Given the description of an element on the screen output the (x, y) to click on. 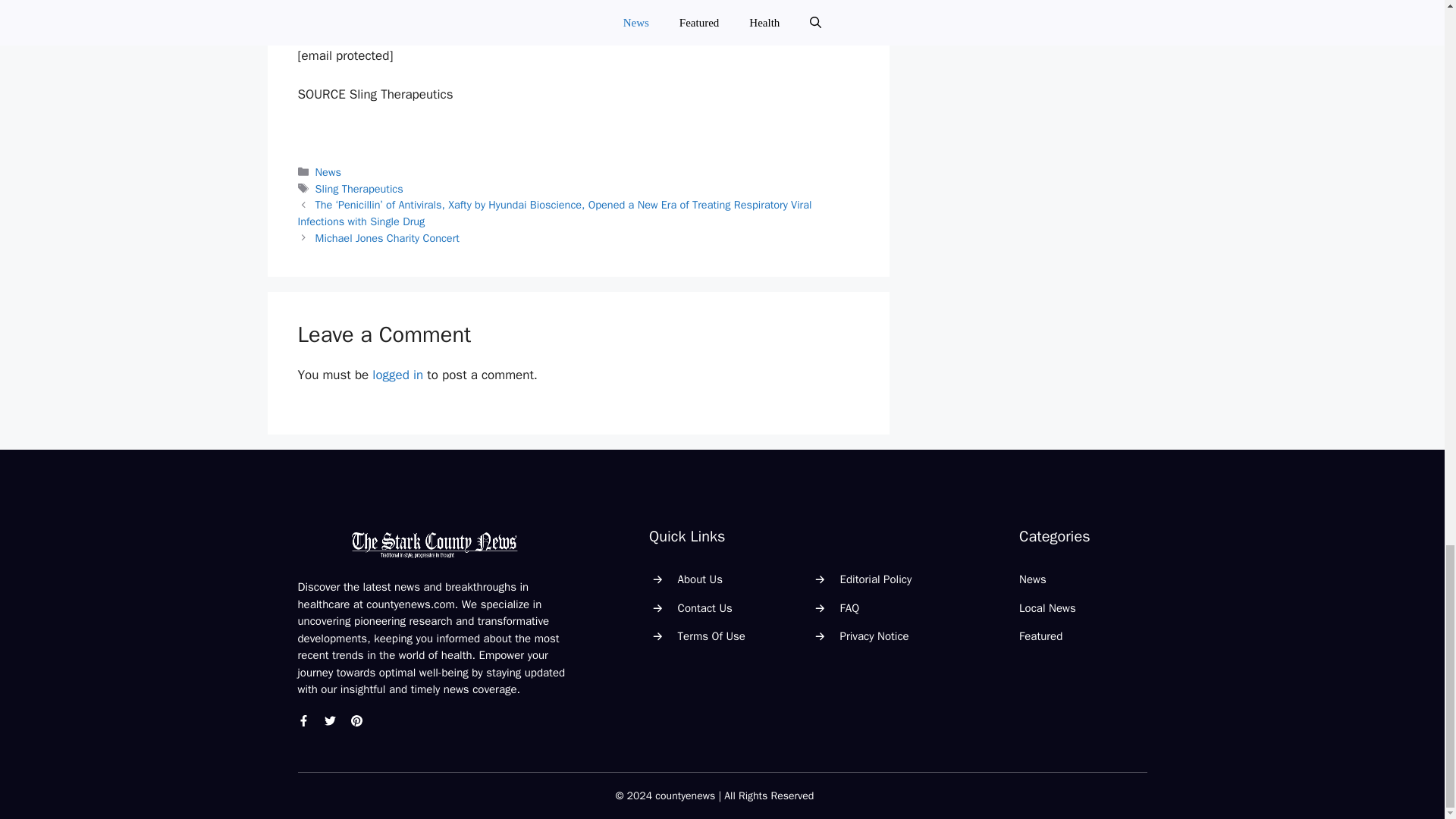
FAQ (849, 608)
About Us (700, 579)
Sling Therapeutics (359, 188)
Terms Of Use (711, 635)
Editorial Policy (876, 579)
Featured (1040, 635)
logged in (397, 374)
Contact Us (705, 608)
Privacy Notice (874, 635)
logo-2-2 (433, 544)
